Given the description of an element on the screen output the (x, y) to click on. 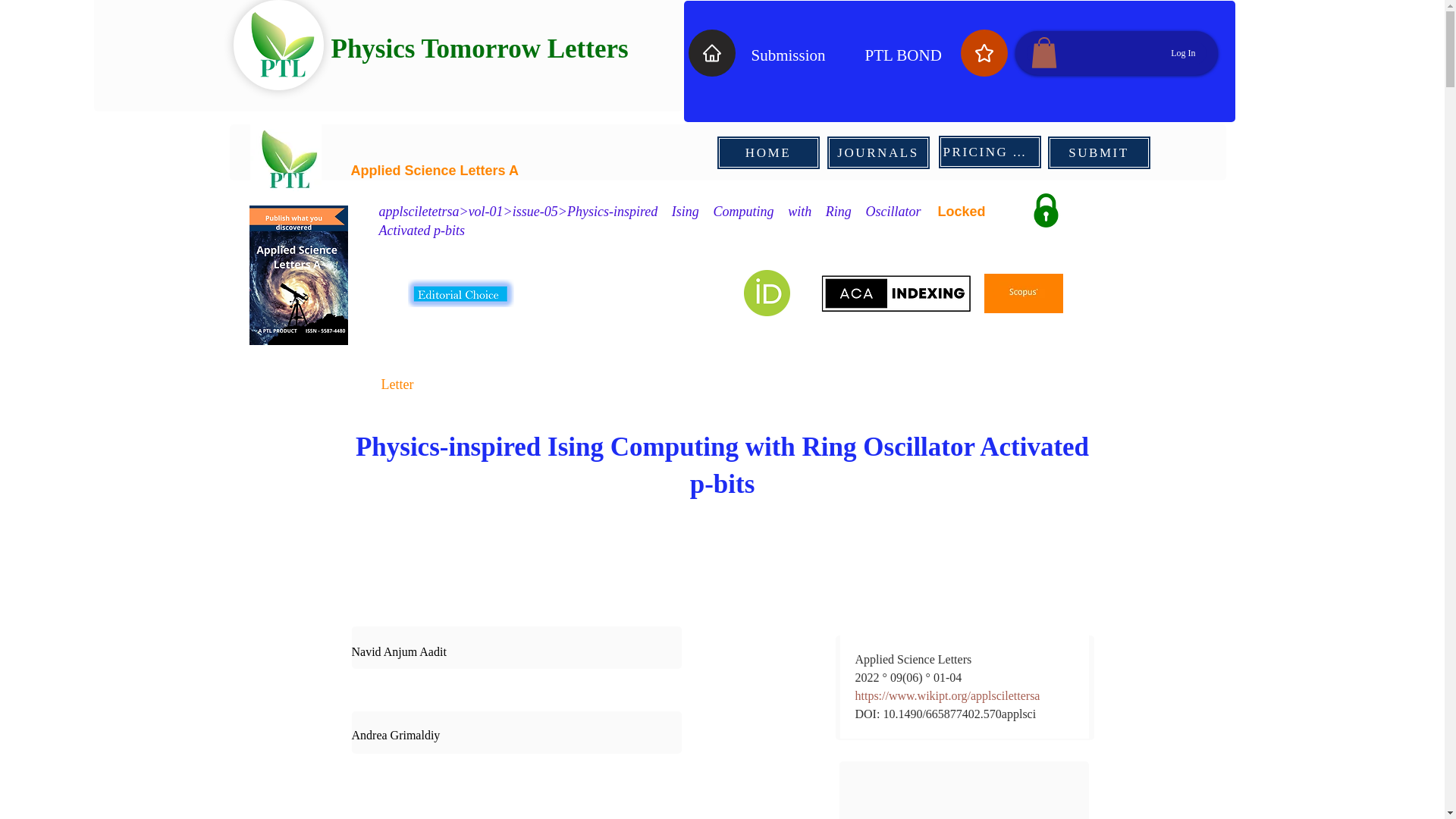
PTL BOND (902, 54)
SUBMIT (1098, 152)
JOURNALS (878, 152)
Applied Science Letters A (434, 170)
Physics Tomorrow Letters (478, 48)
PRICING AND PLANS (989, 151)
HOME (767, 152)
Loked.png (1044, 210)
Submission (788, 54)
Log In (1182, 53)
